Given the description of an element on the screen output the (x, y) to click on. 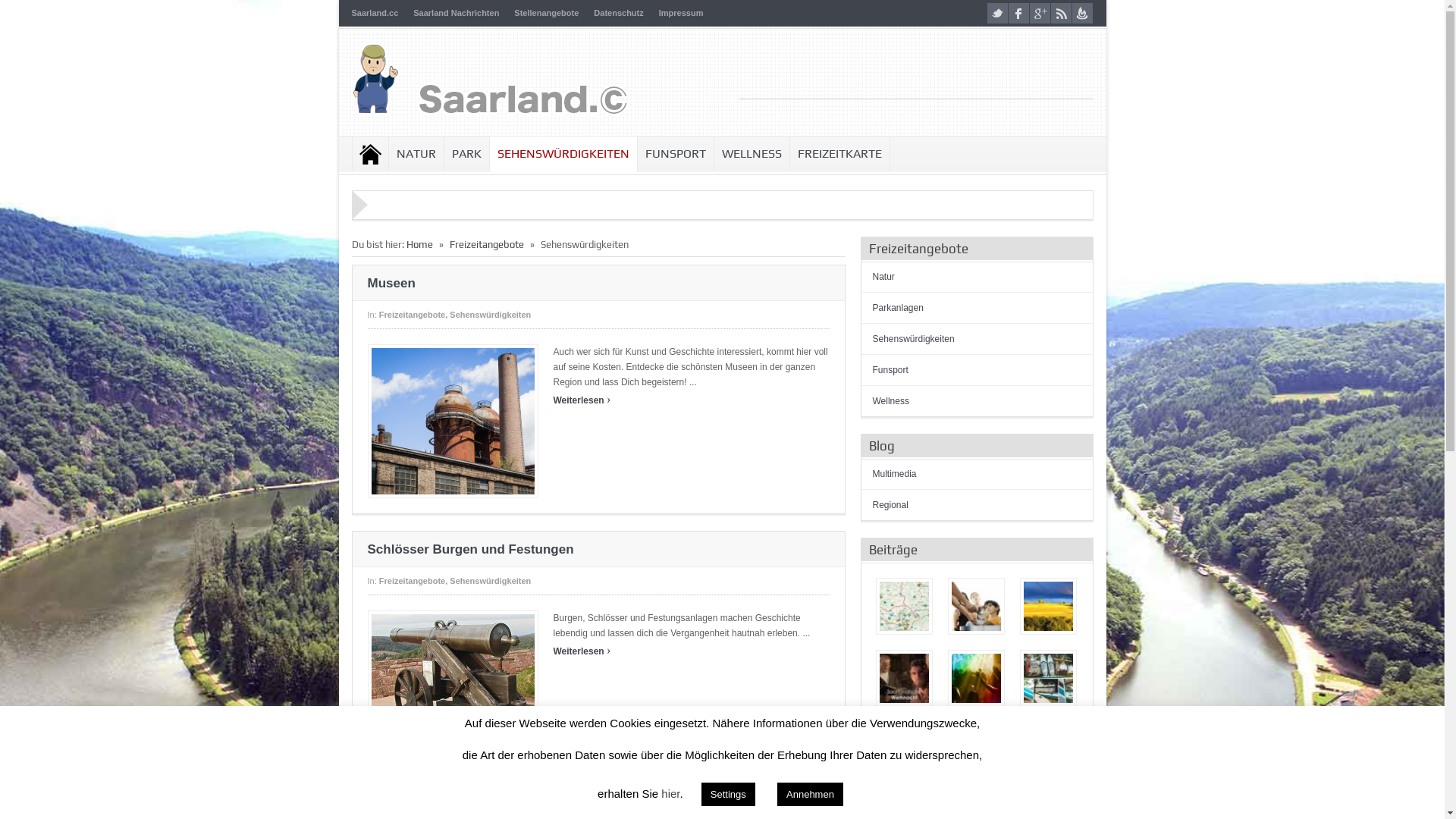
NATUR Element type: text (415, 153)
Advertisement Element type: hover (915, 75)
FUNSPORT Element type: text (674, 153)
Saarland Pfalz Rallye 2015 Element type: hover (1047, 749)
Impressum Element type: text (680, 12)
rss Element type: text (1061, 13)
Annehmen Element type: text (810, 794)
Funsport Element type: text (889, 369)
Wellness Element type: text (890, 400)
Saarland.cc Element type: text (374, 12)
PARK Element type: text (466, 153)
Home Element type: text (419, 244)
Parkanlagen Element type: text (897, 307)
Das Saarland Element type: hover (903, 750)
Stellenangebote Element type: text (546, 12)
HOME Element type: text (369, 153)
Regional Element type: text (889, 504)
facebook Element type: text (1018, 13)
feedburner Element type: text (1082, 13)
Freizeitangebote Element type: text (485, 244)
Multimedia Element type: text (894, 473)
WELLNESS Element type: text (751, 153)
Saarland Nachrichten Element type: text (455, 12)
google plus Element type: text (1039, 13)
Stand Up Paddling Element type: hover (1047, 677)
Freizeitkarte Element type: hover (903, 605)
hier Element type: text (670, 793)
Goldvorkommen im Saarland Element type: hover (975, 750)
Saarland Pfalz Rallye 2015 Element type: hover (1048, 750)
Freizeitkarte Element type: hover (903, 605)
Stand Up Paddling Element type: hover (1048, 677)
Exkursion Artenvielfalt im NSG Orchideenwiese Gersheim Element type: hover (1047, 605)
Datenschutz Element type: text (618, 12)
Exkursion Artenvielfalt im NSG Orchideenwiese Gersheim Element type: hover (1048, 605)
Freizeitangebote Element type: text (412, 314)
Settings Element type: text (728, 794)
Museen Element type: text (390, 283)
Freizeitangebote Element type: text (412, 580)
FREIZEITKARTE Element type: text (839, 153)
Das Saarland Element type: hover (903, 749)
Natur Element type: text (883, 276)
twitter Element type: text (997, 13)
Museen Element type: hover (452, 421)
Goldvorkommen im Saarland Element type: hover (975, 749)
